Given the description of an element on the screen output the (x, y) to click on. 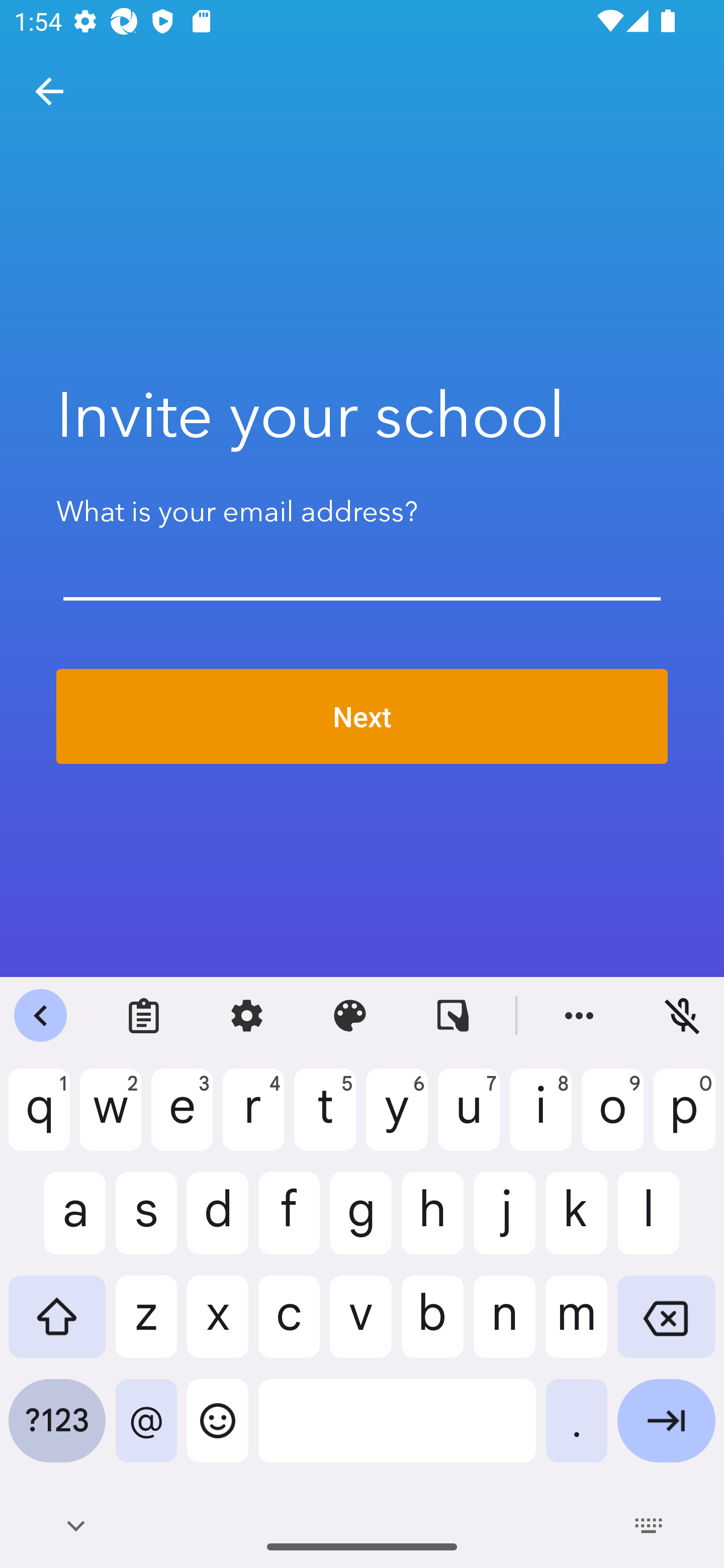
Navigate up (49, 91)
Next (361, 716)
